Given the description of an element on the screen output the (x, y) to click on. 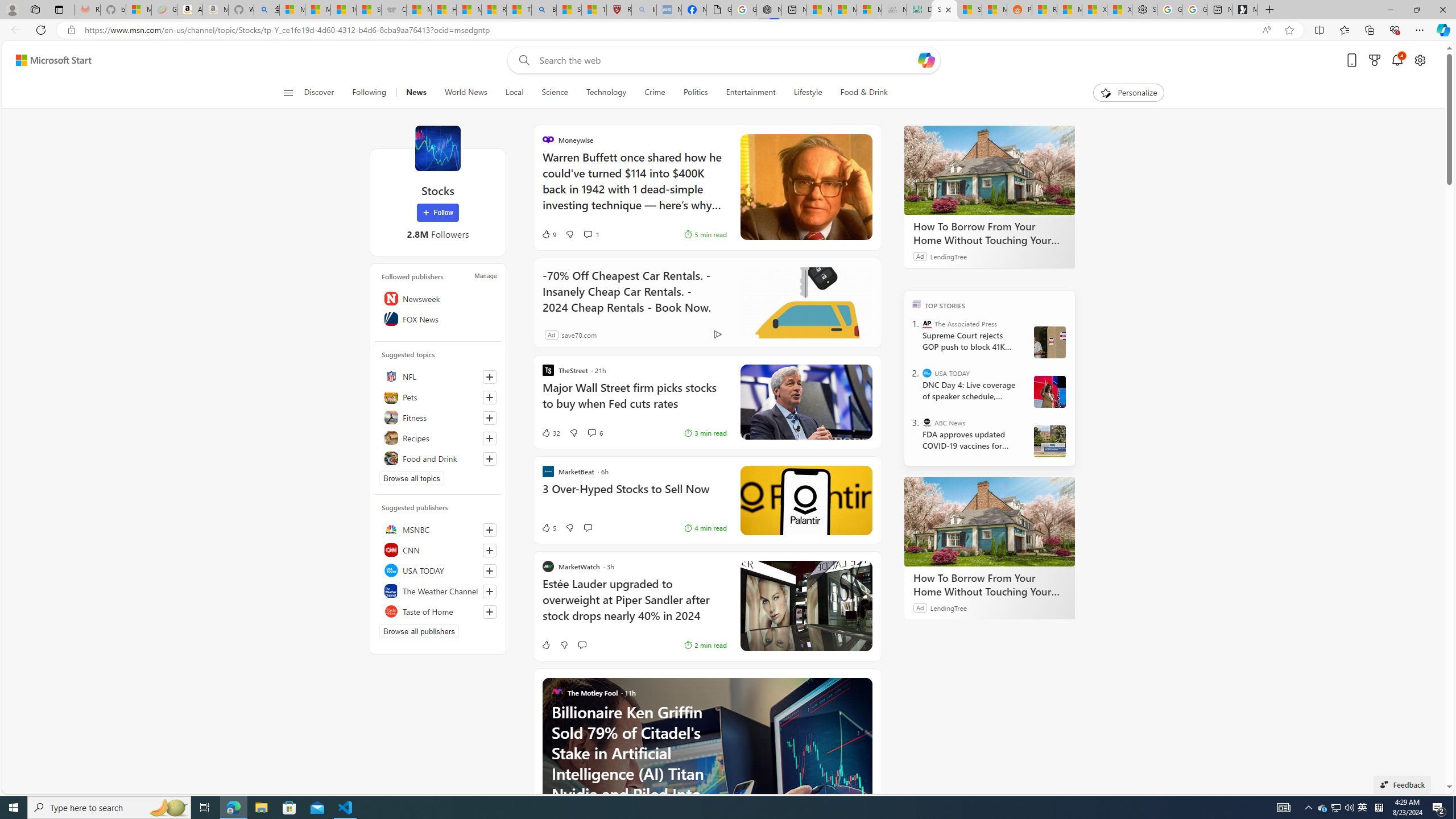
Fitness (437, 417)
News (415, 92)
Science - MSN (568, 9)
The Weather Channel (437, 590)
CNN (437, 549)
Newsweek (437, 298)
Manage (485, 275)
Follow (437, 212)
DITOGAMES AG Imprint (919, 9)
